Given the description of an element on the screen output the (x, y) to click on. 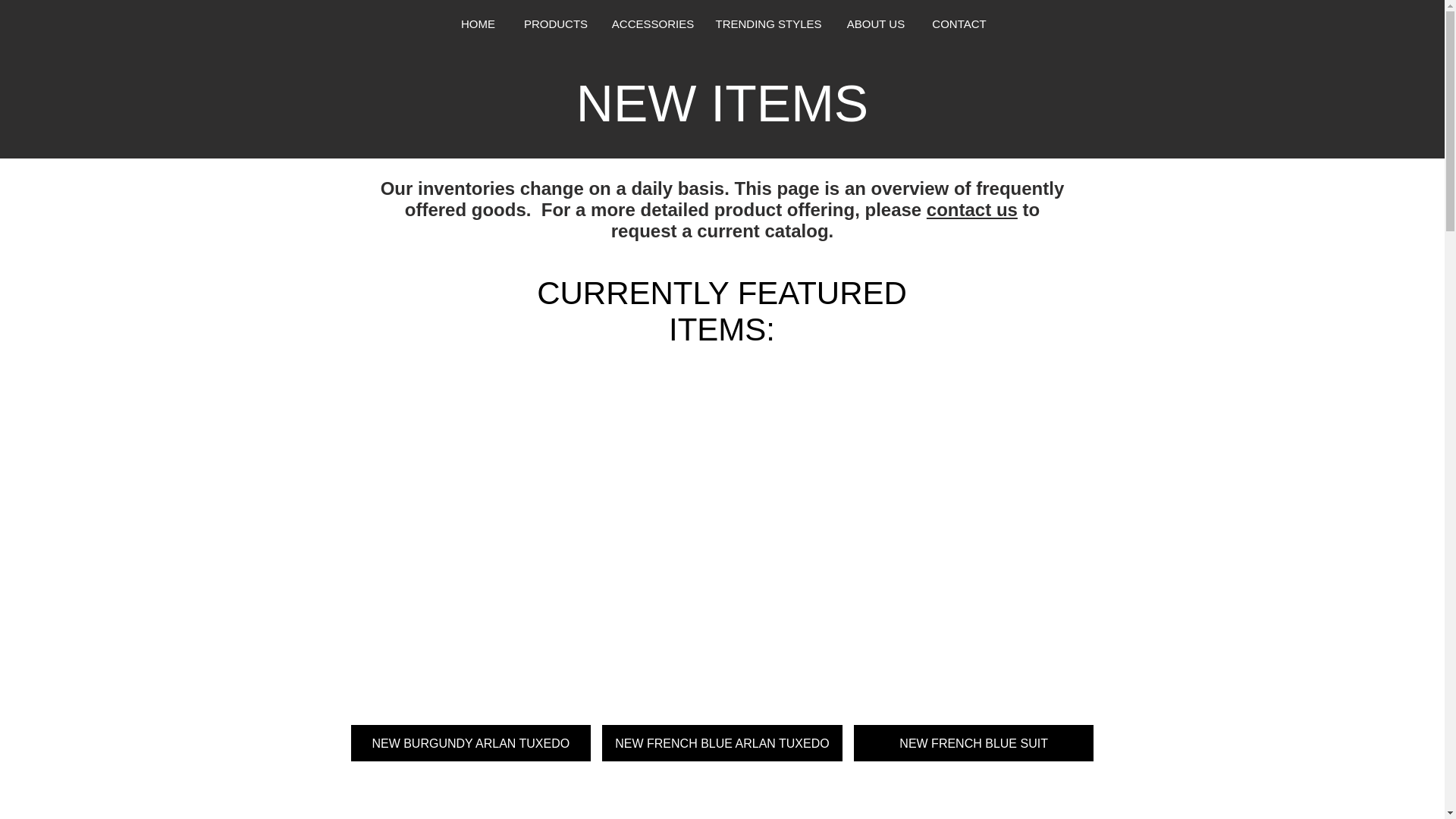
NEW GREY ARLAN TUXEDO (722, 796)
ACCESSORIES (651, 24)
HOME (478, 24)
PRODUCTS (556, 24)
NEW NAVY VELVET PEAK TUXEDO JACKET (973, 796)
TRENDING STYLES (768, 24)
NEW BURGUNDY ARLAN TUXEDO (470, 564)
NEW FRENCH BLUE SUIT (973, 564)
ABOUT US (876, 24)
NEW GREY SUIT (470, 796)
contact us (971, 209)
NEW FRENCH BLUE ARLAN TUXEDO (722, 564)
CONTACT (958, 24)
